Given the description of an element on the screen output the (x, y) to click on. 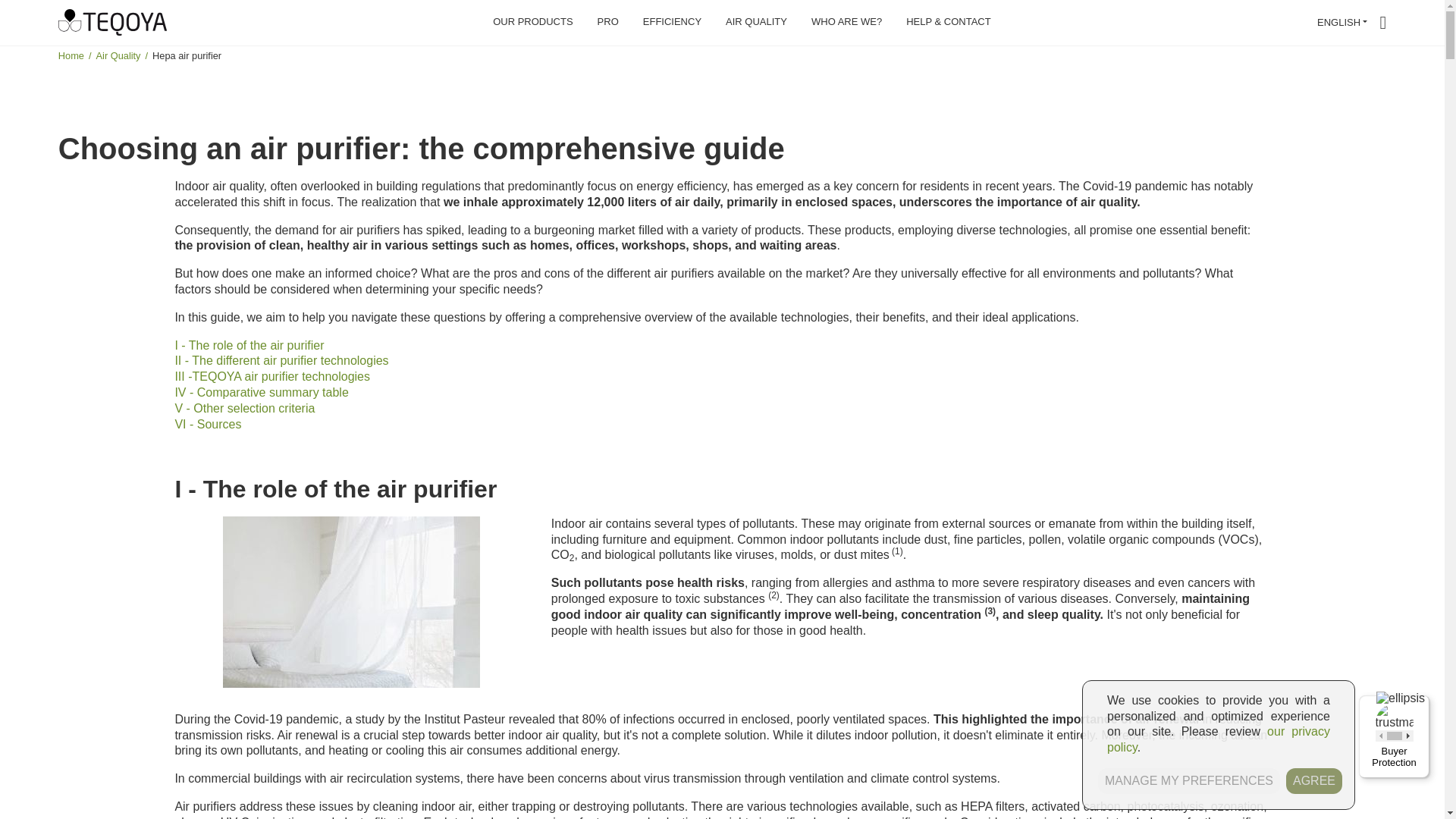
our privacy policy (1218, 738)
AGREE (1313, 780)
MANAGE MY PREFERENCES (1188, 780)
OUR PRODUCTS (532, 22)
